Given the description of an element on the screen output the (x, y) to click on. 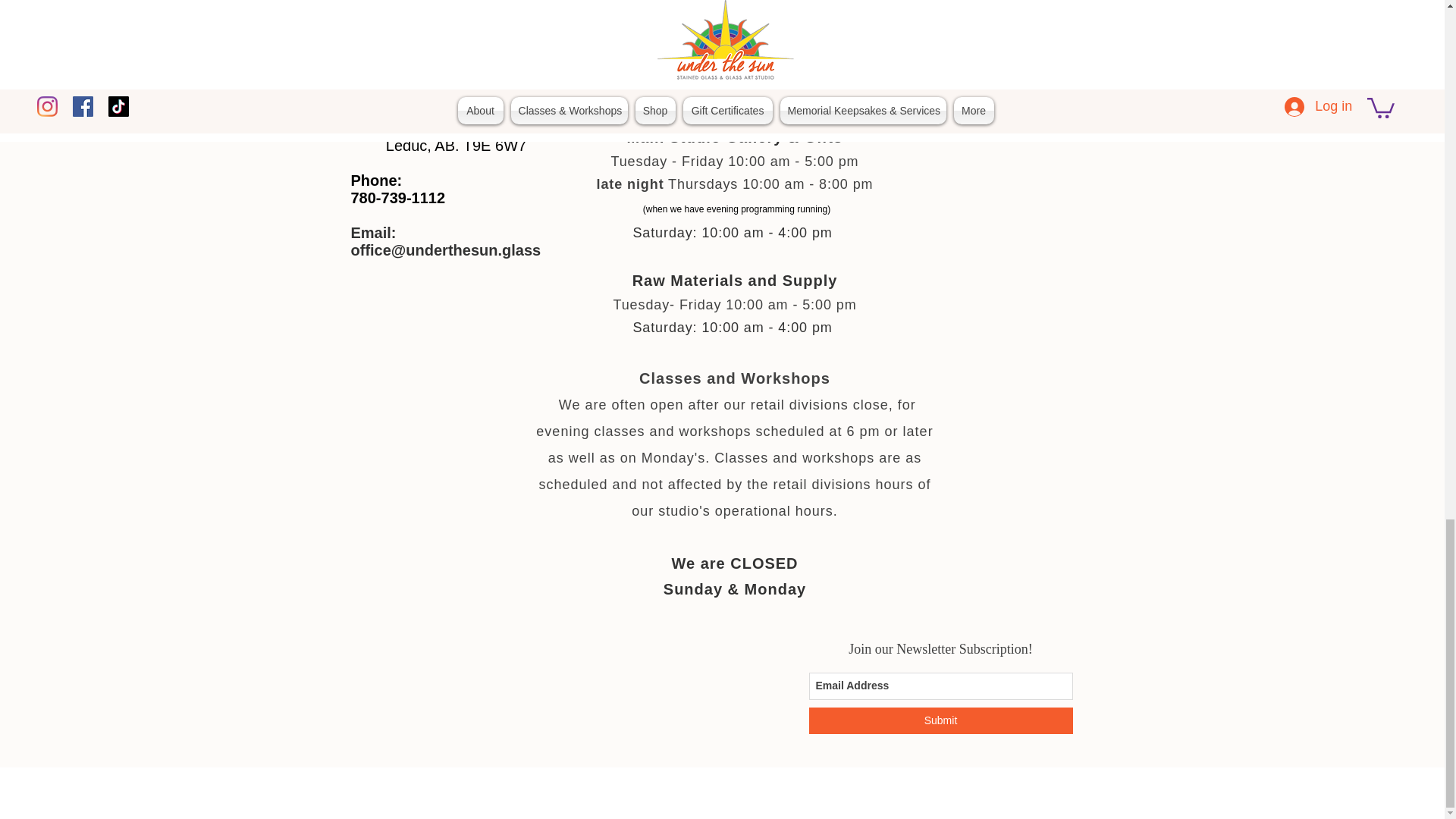
Submit (939, 720)
